Given the description of an element on the screen output the (x, y) to click on. 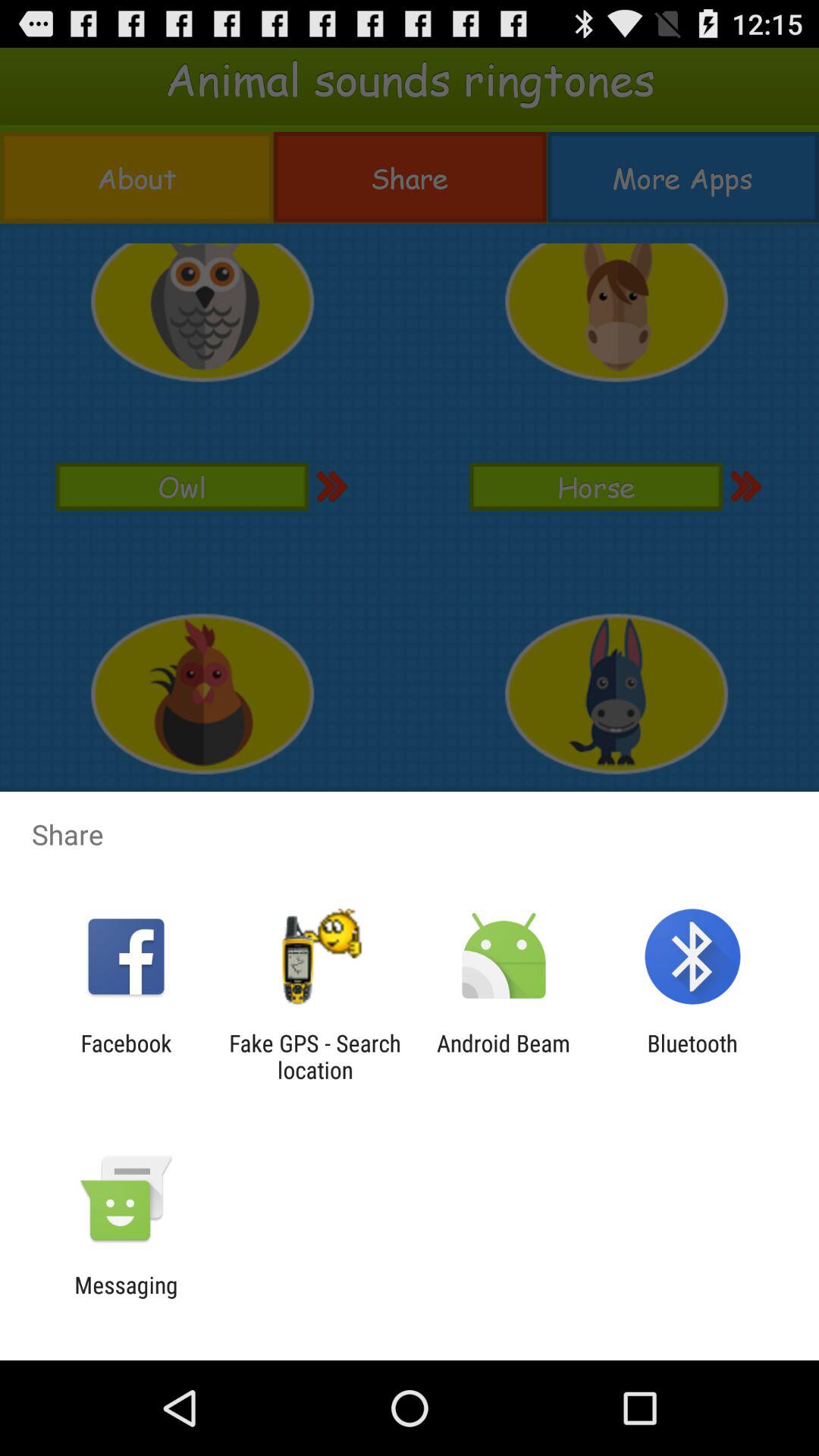
click the fake gps search app (314, 1056)
